Given the description of an element on the screen output the (x, y) to click on. 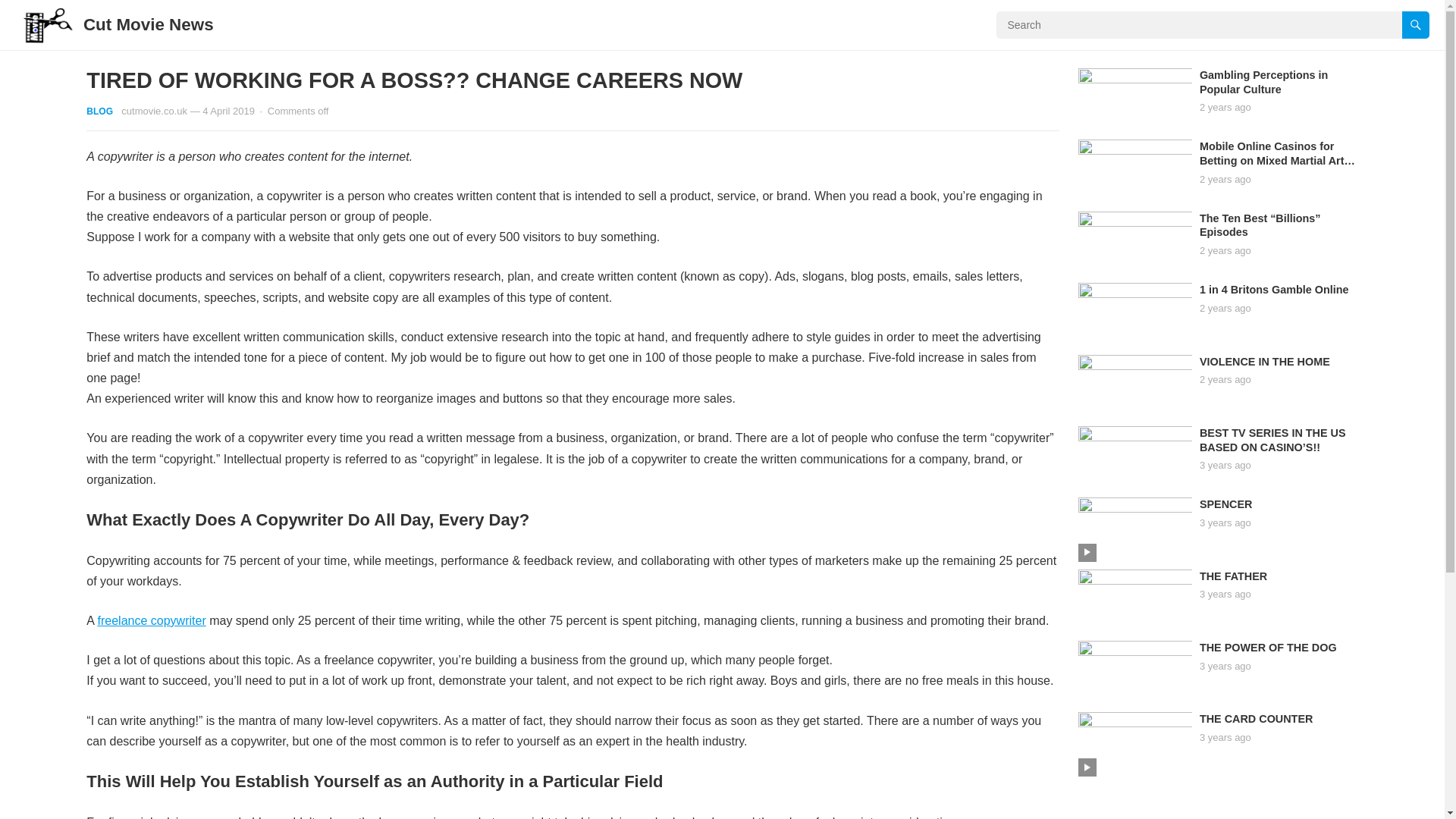
Gambling Perceptions in Popular Culture (1263, 81)
VIOLENCE IN THE HOME (1264, 360)
THE FATHER (1232, 576)
cutmovie.co.uk (153, 111)
Cut Movie News (148, 24)
1 in 4 Britons Gamble Online (1274, 289)
freelance copywriter (151, 620)
Posts by cutmovie.co.uk (153, 111)
BLOG (99, 111)
THE CARD COUNTER (1256, 718)
THE POWER OF THE DOG (1267, 647)
SPENCER (1225, 503)
